Given the description of an element on the screen output the (x, y) to click on. 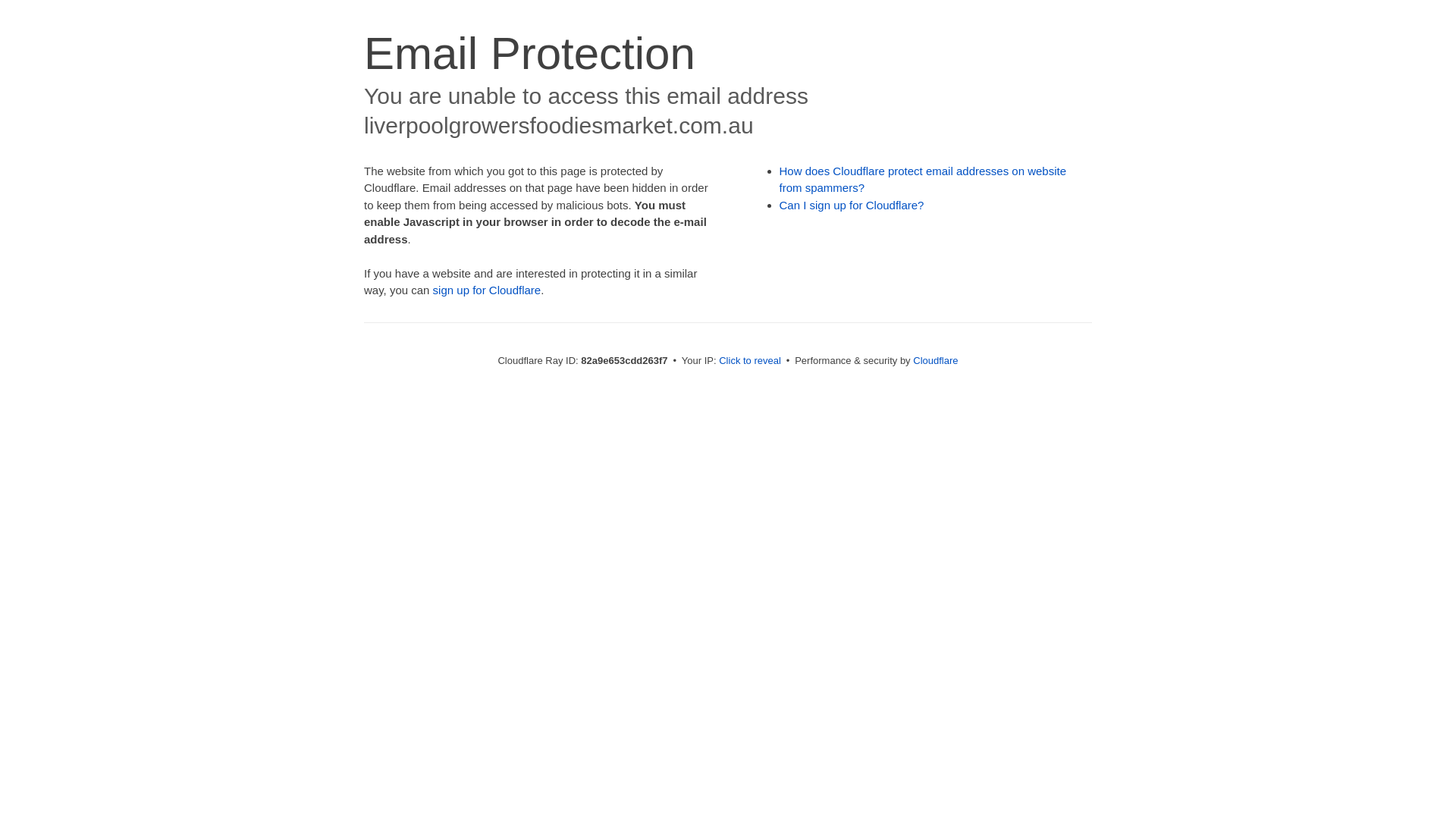
sign up for Cloudflare Element type: text (487, 289)
Click to reveal Element type: text (749, 360)
Can I sign up for Cloudflare? Element type: text (851, 204)
Cloudflare Element type: text (935, 360)
